Given the description of an element on the screen output the (x, y) to click on. 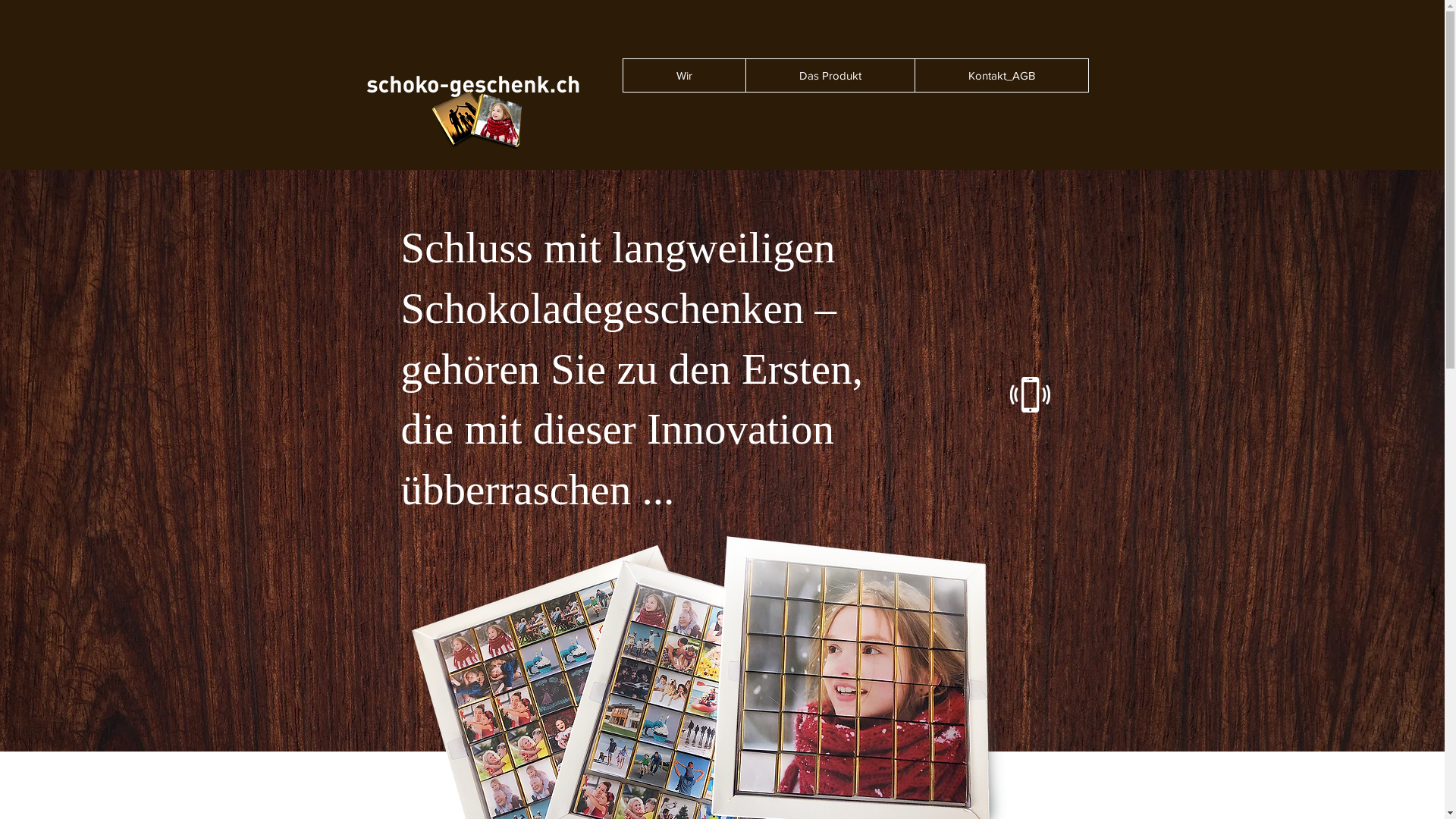
Das Produkt Element type: text (828, 75)
Kontakt_AGB Element type: text (1001, 75)
Wir Element type: text (684, 75)
